Given the description of an element on the screen output the (x, y) to click on. 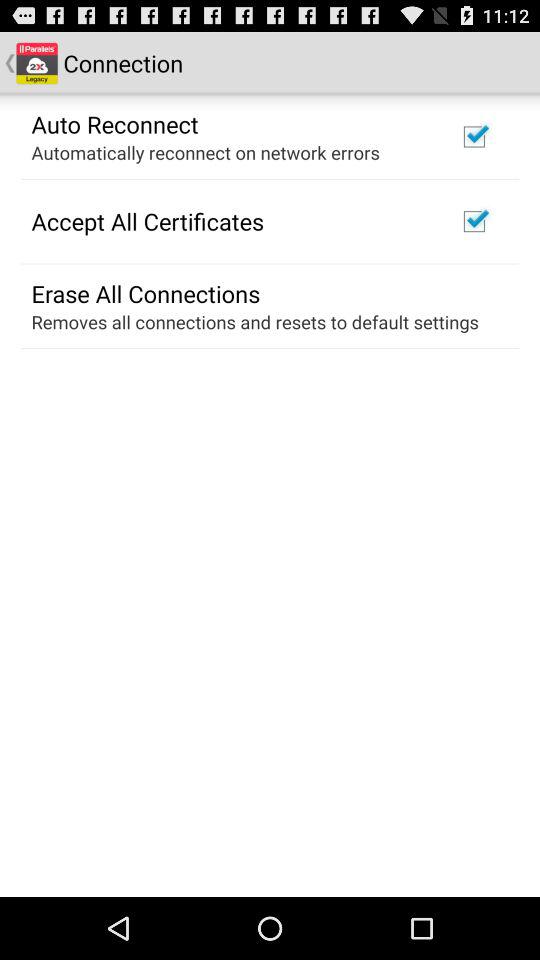
choose the item above the automatically reconnect on icon (114, 123)
